Given the description of an element on the screen output the (x, y) to click on. 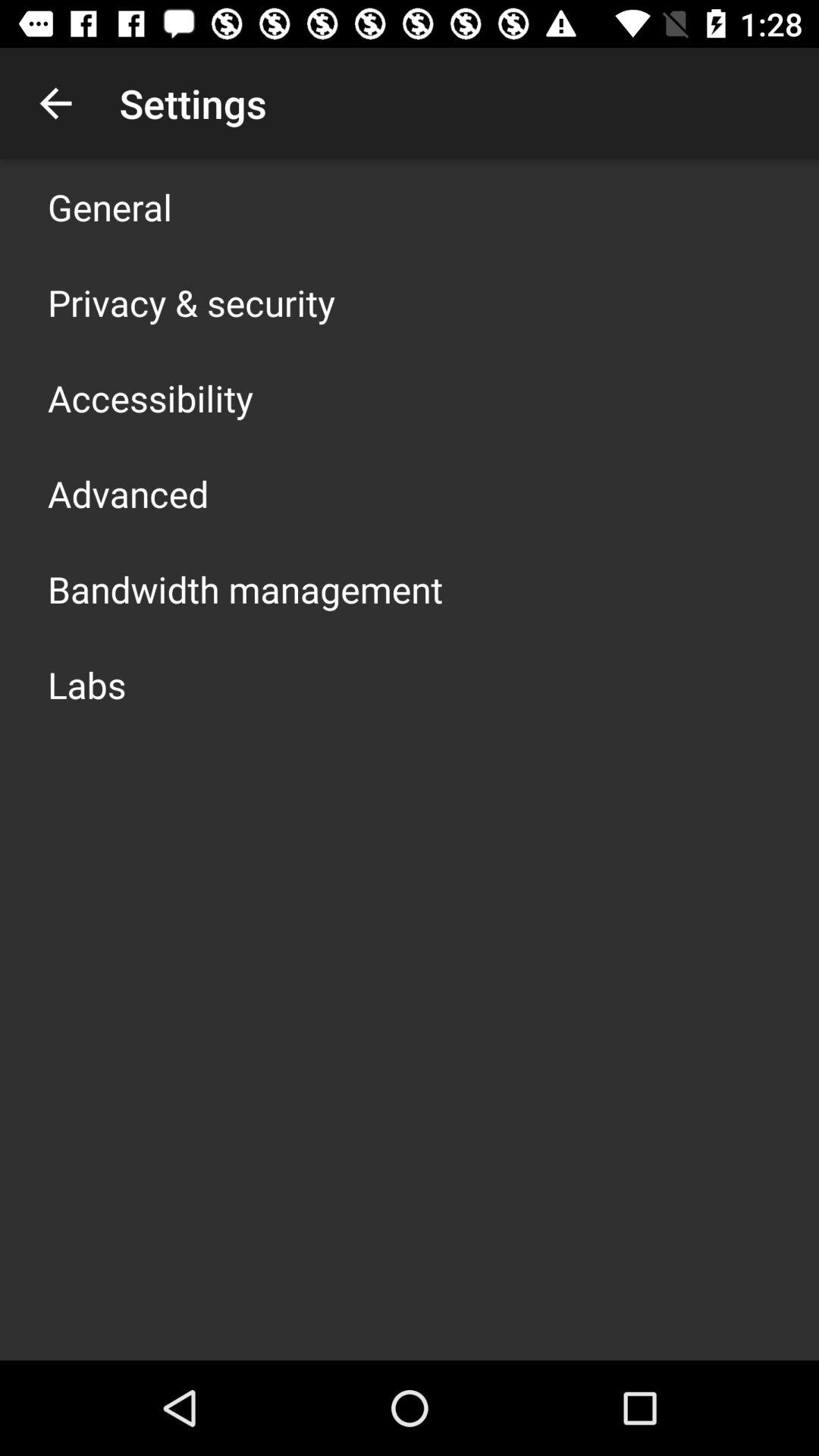
launch the icon below the privacy & security icon (150, 397)
